Given the description of an element on the screen output the (x, y) to click on. 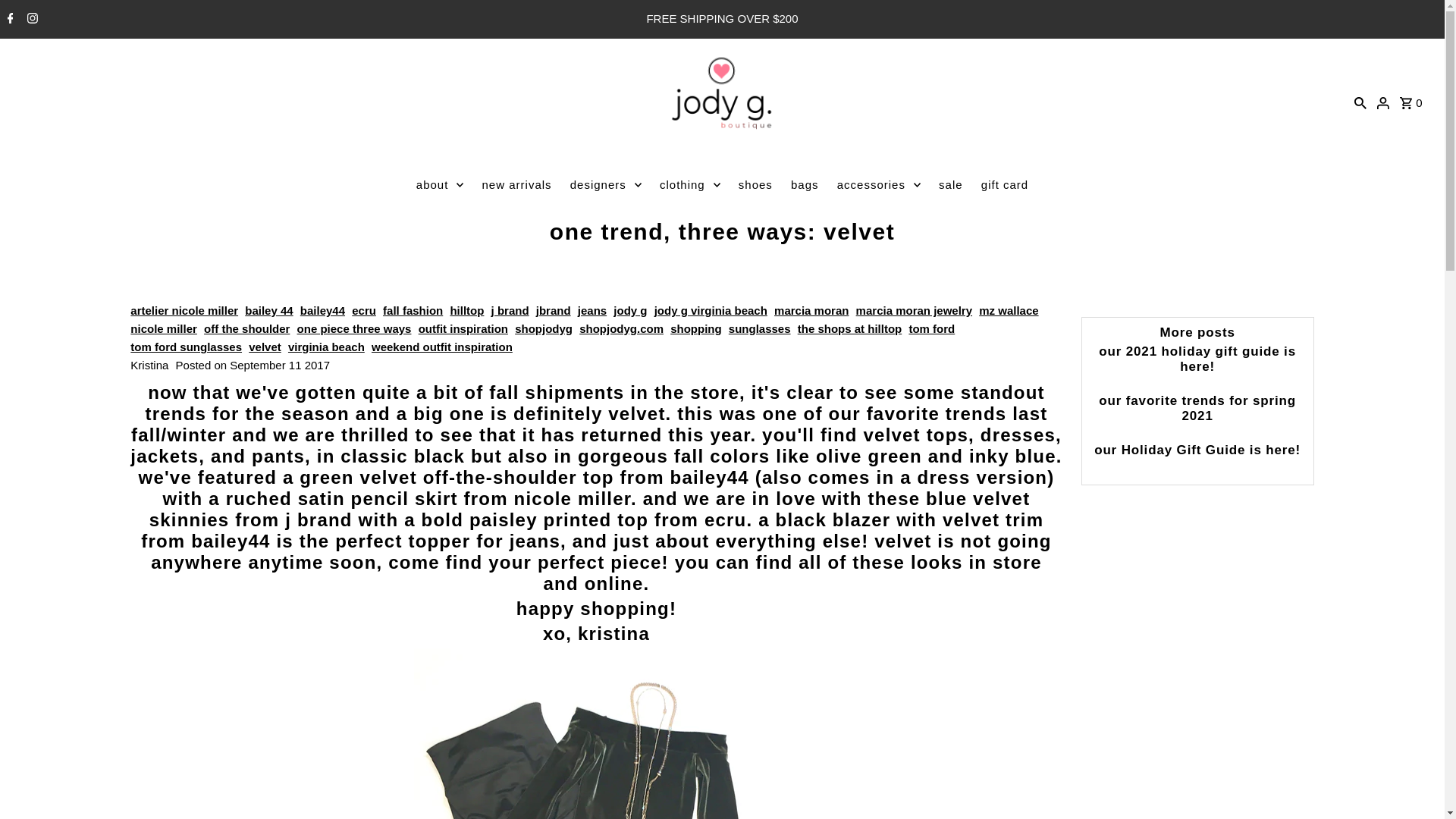
new arrivals (516, 184)
about (440, 184)
designers (605, 184)
